Given the description of an element on the screen output the (x, y) to click on. 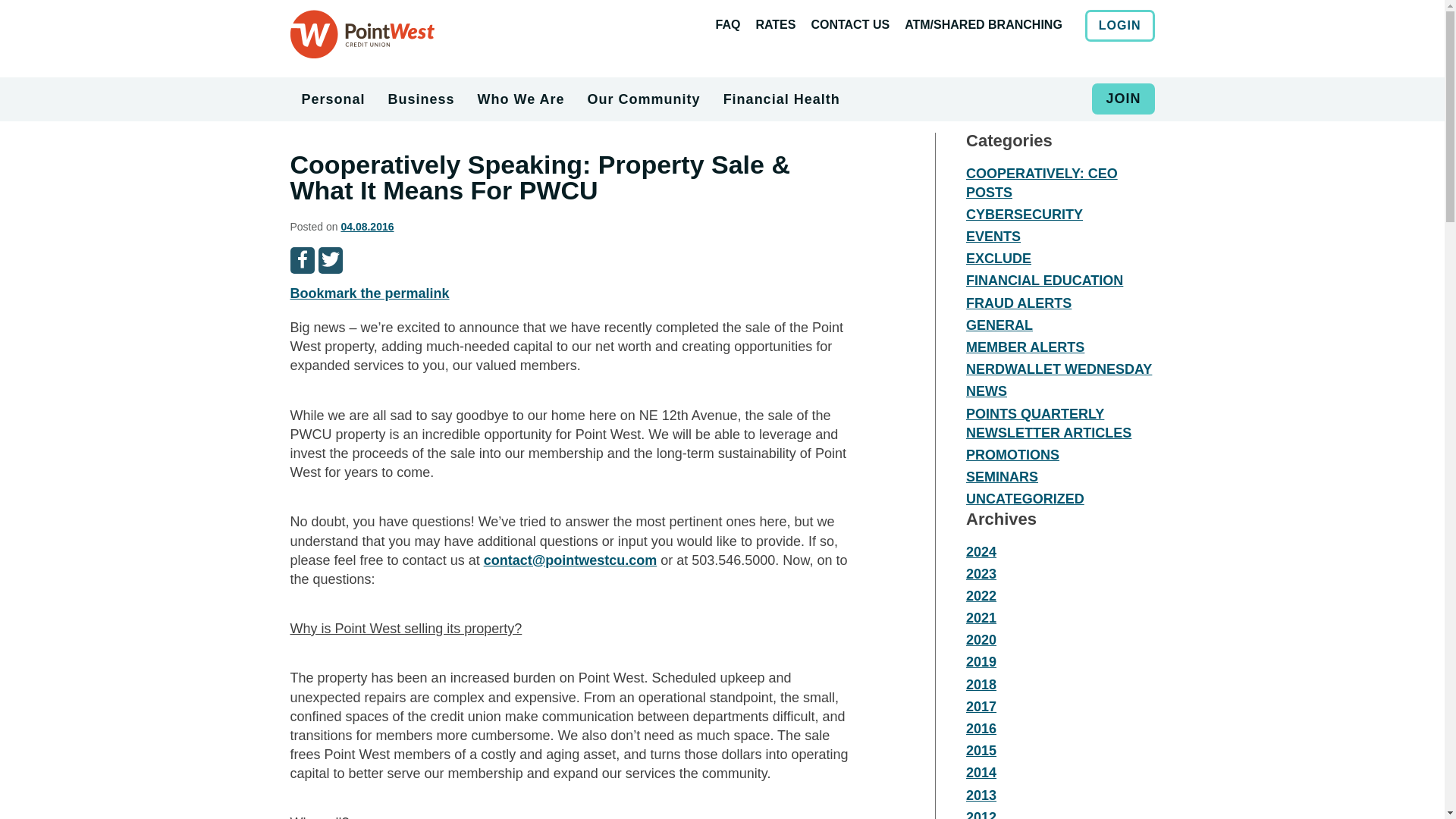
CONTACT US (857, 24)
RATES (782, 24)
FAQ (734, 24)
LOGIN (1119, 24)
